Given the description of an element on the screen output the (x, y) to click on. 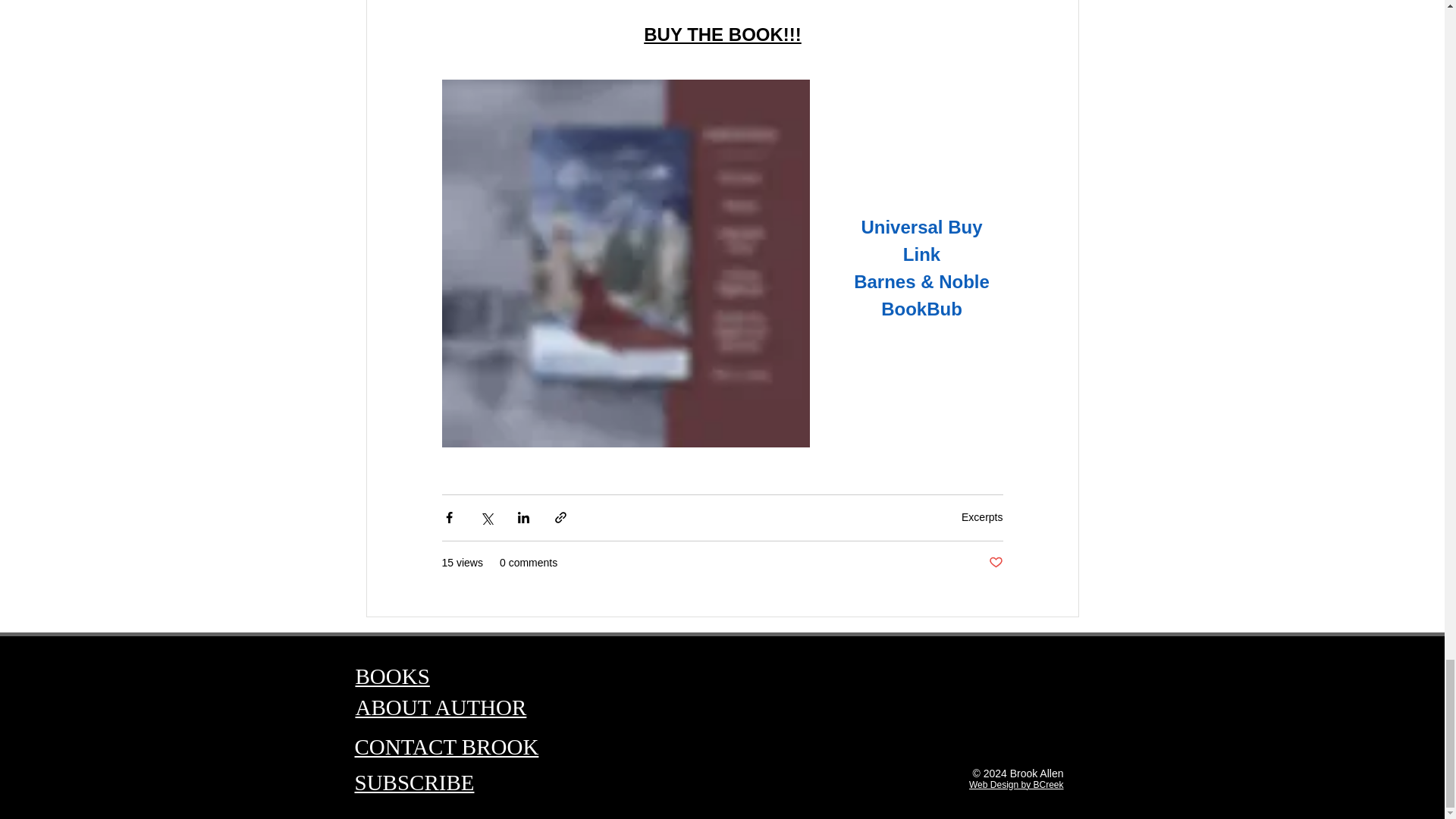
BookBub (921, 310)
ABOUT AUTHOR (440, 707)
Post not marked as liked (995, 562)
Universal Buy Link (923, 242)
Excerpts (981, 517)
BOOKS (392, 676)
